Given the description of an element on the screen output the (x, y) to click on. 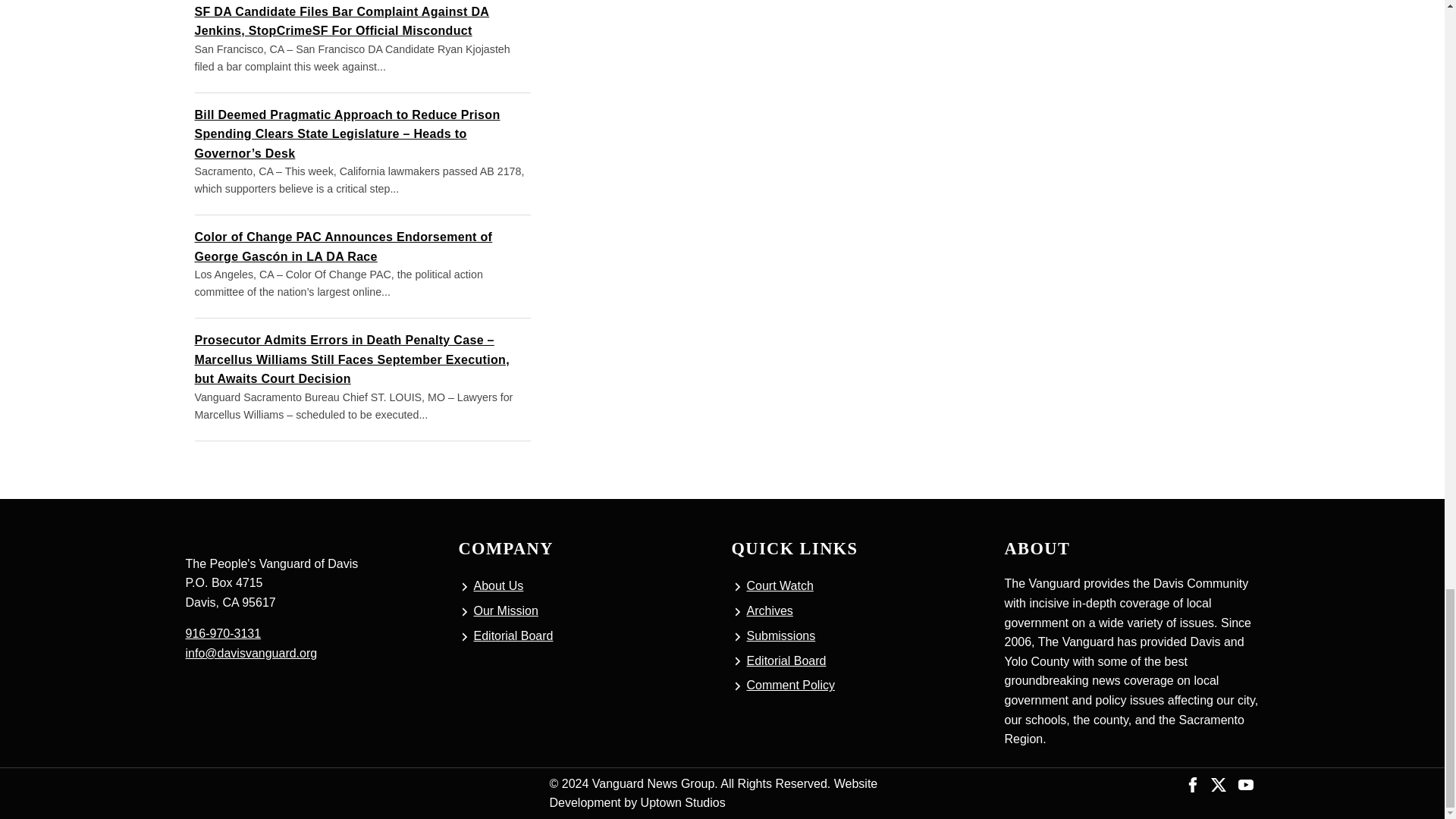
YouTube (1245, 783)
Twitter (1218, 783)
Facebook (1192, 783)
